Given the description of an element on the screen output the (x, y) to click on. 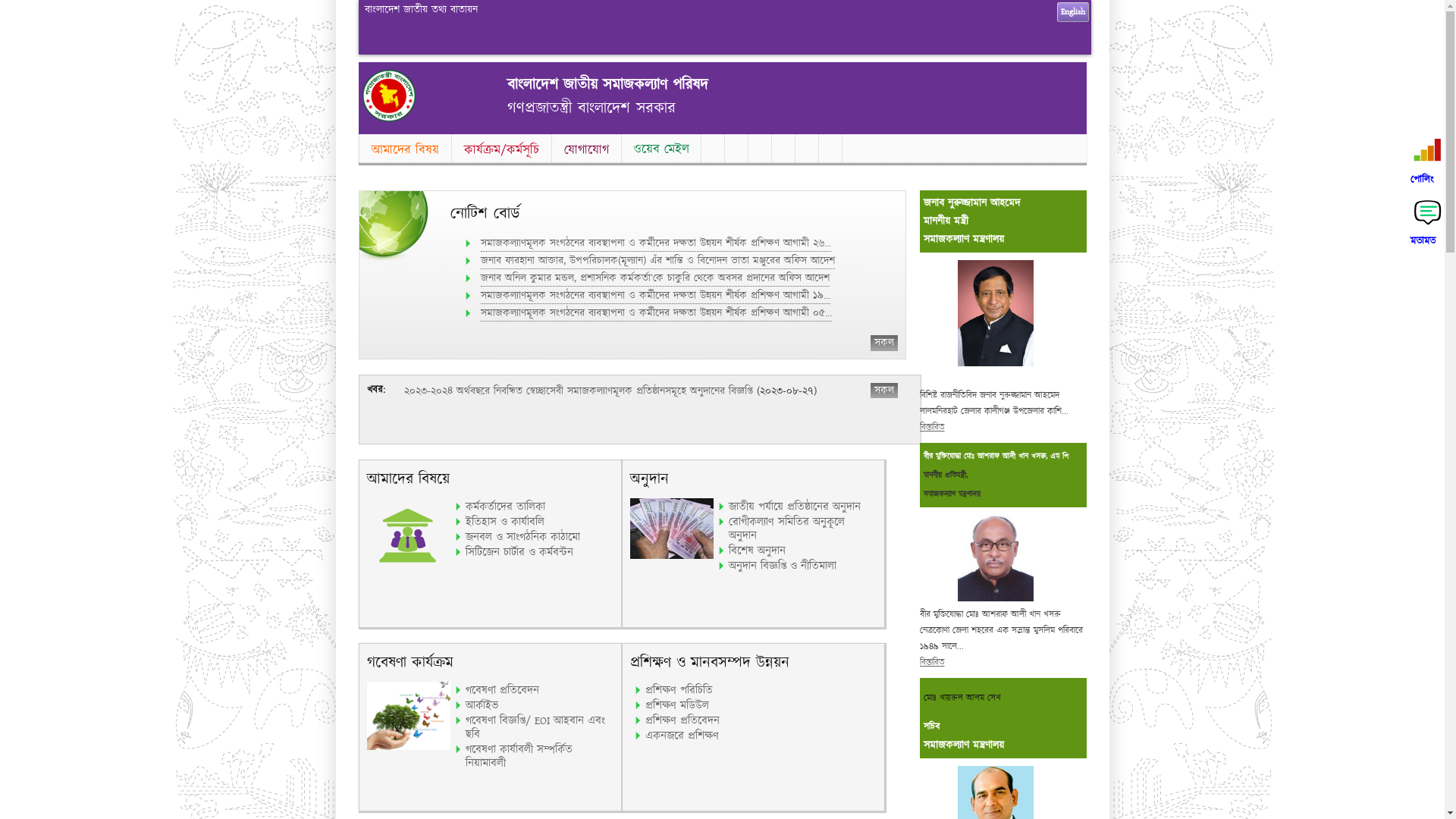
English Element type: text (1072, 11)
Home Element type: hover (388, 117)
